Given the description of an element on the screen output the (x, y) to click on. 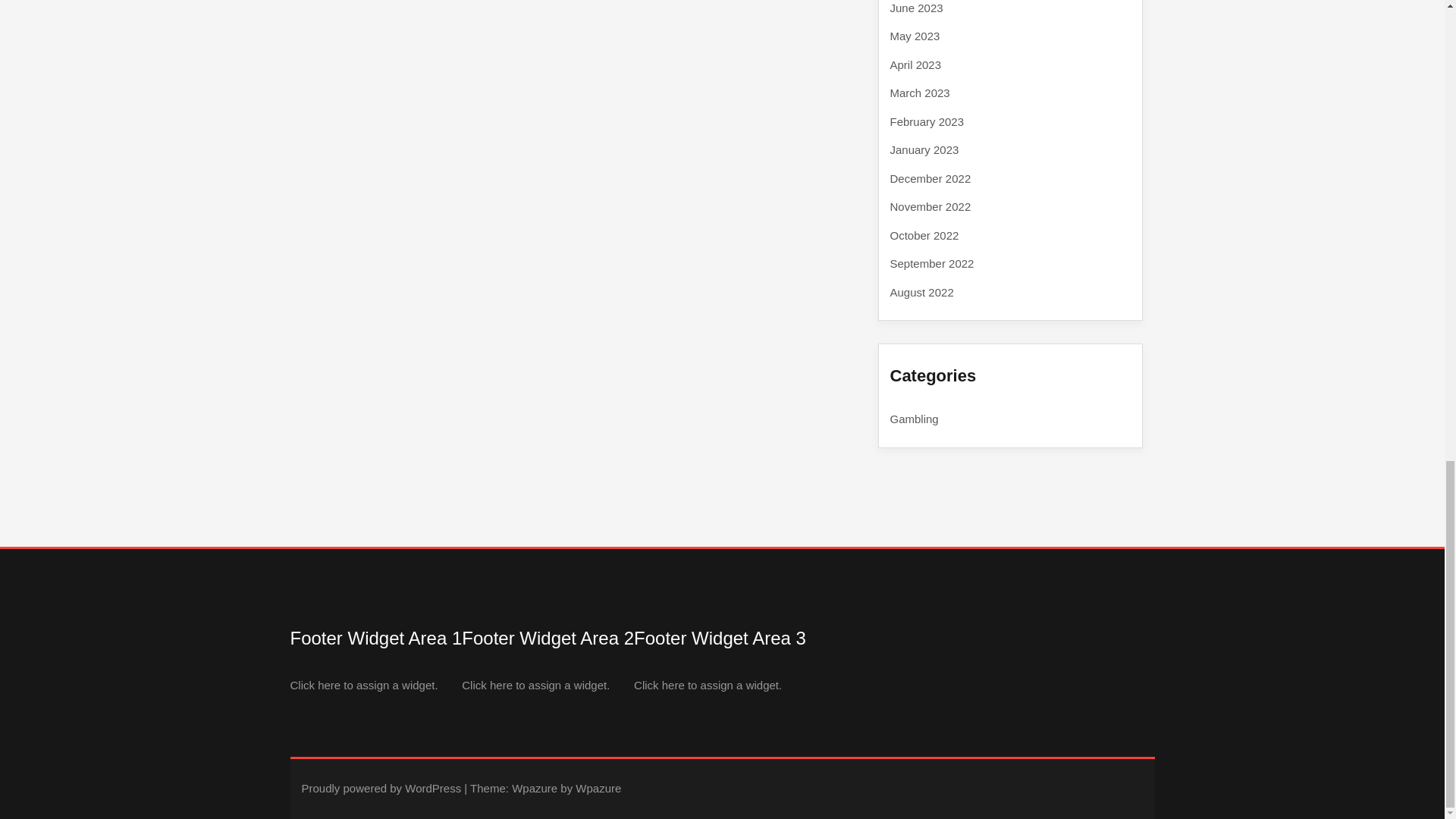
August 2022 (921, 291)
January 2023 (924, 149)
December 2022 (930, 178)
Gambling (914, 418)
October 2022 (924, 234)
April 2023 (915, 64)
May 2023 (914, 35)
February 2023 (926, 120)
November 2022 (930, 205)
March 2023 (919, 92)
